Given the description of an element on the screen output the (x, y) to click on. 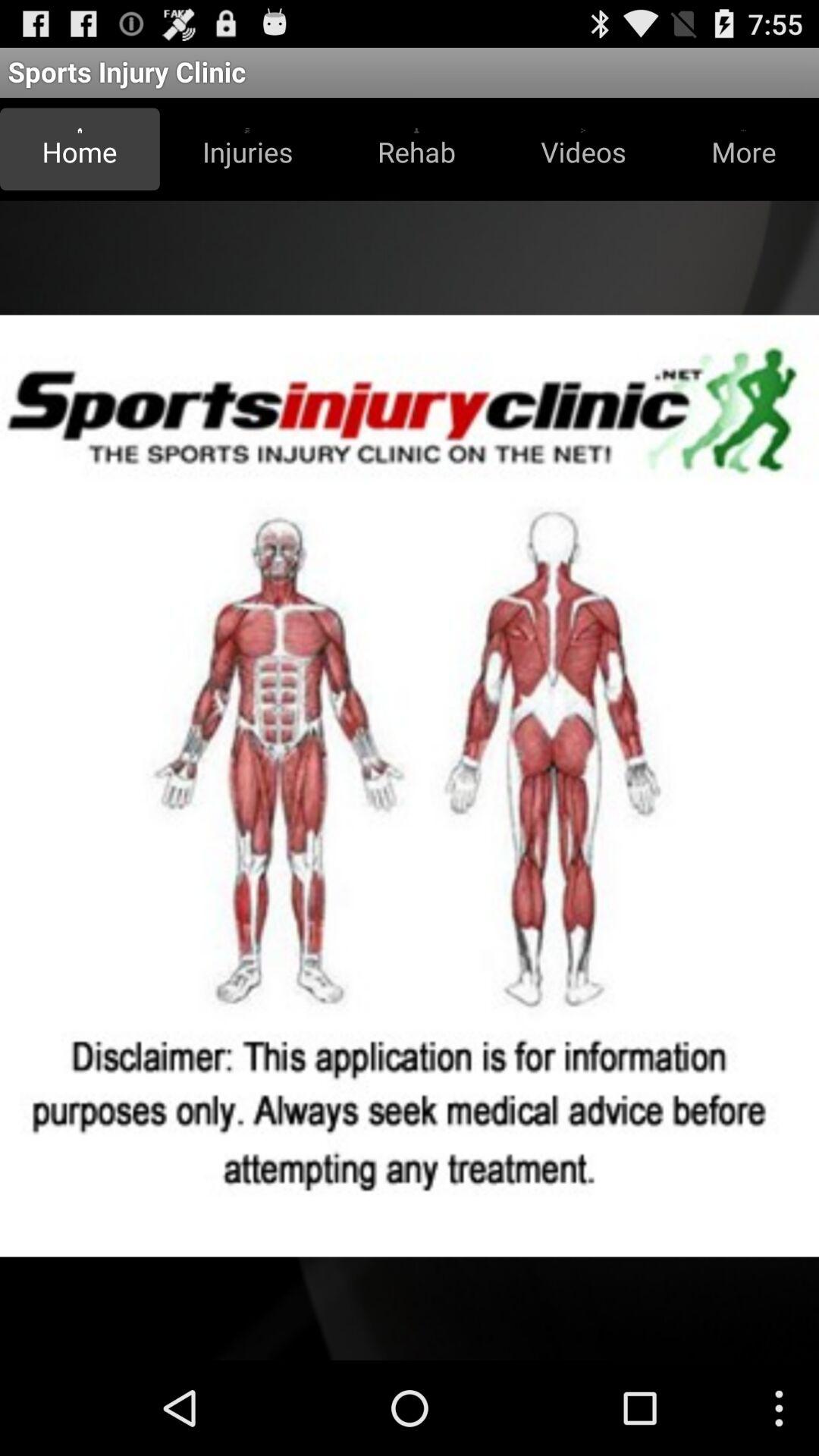
turn off icon to the left of the videos (416, 149)
